Given the description of an element on the screen output the (x, y) to click on. 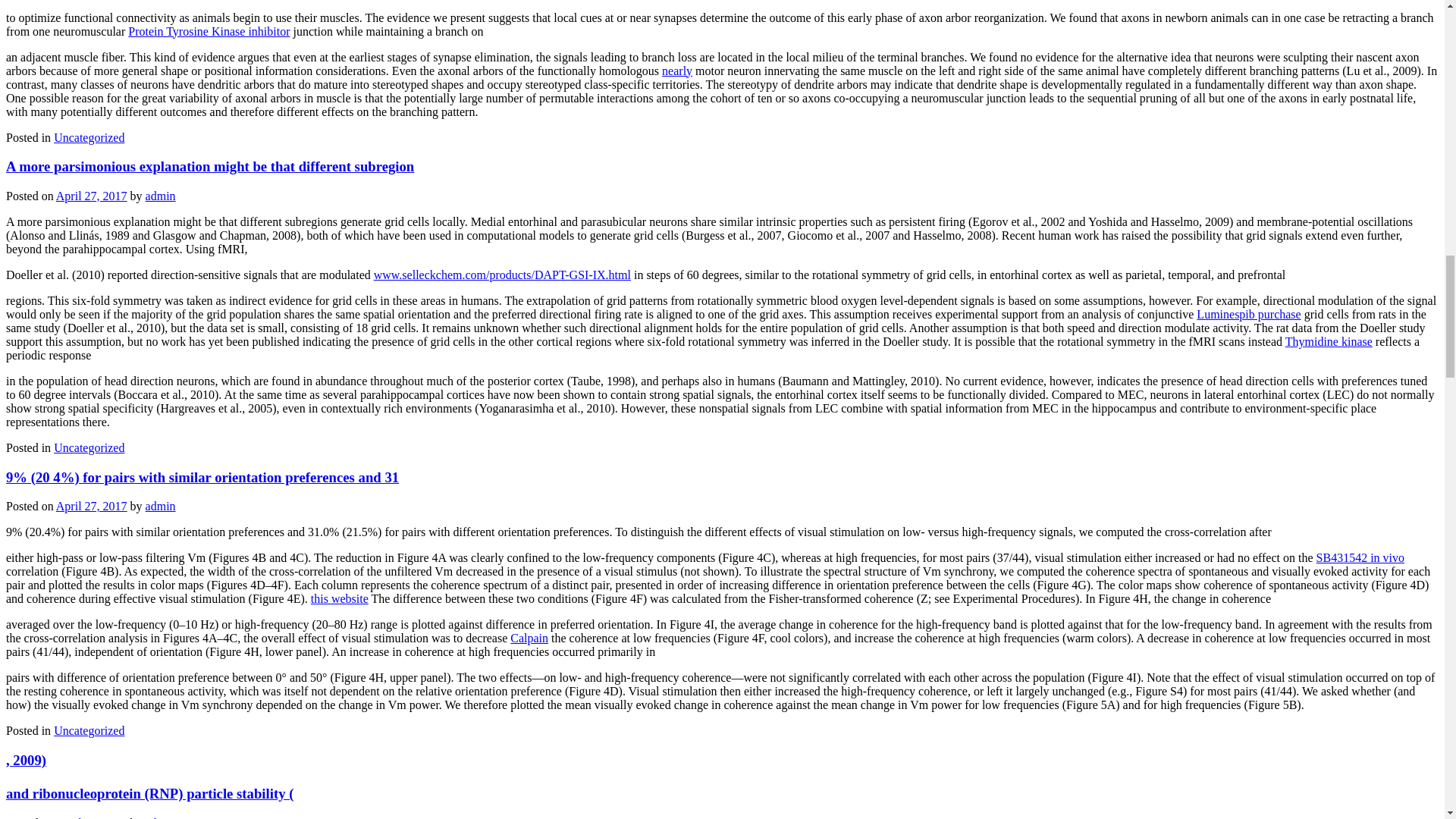
Uncategorized (88, 136)
Protein Tyrosine Kinase inhibitor (208, 30)
nearly (677, 69)
